Given the description of an element on the screen output the (x, y) to click on. 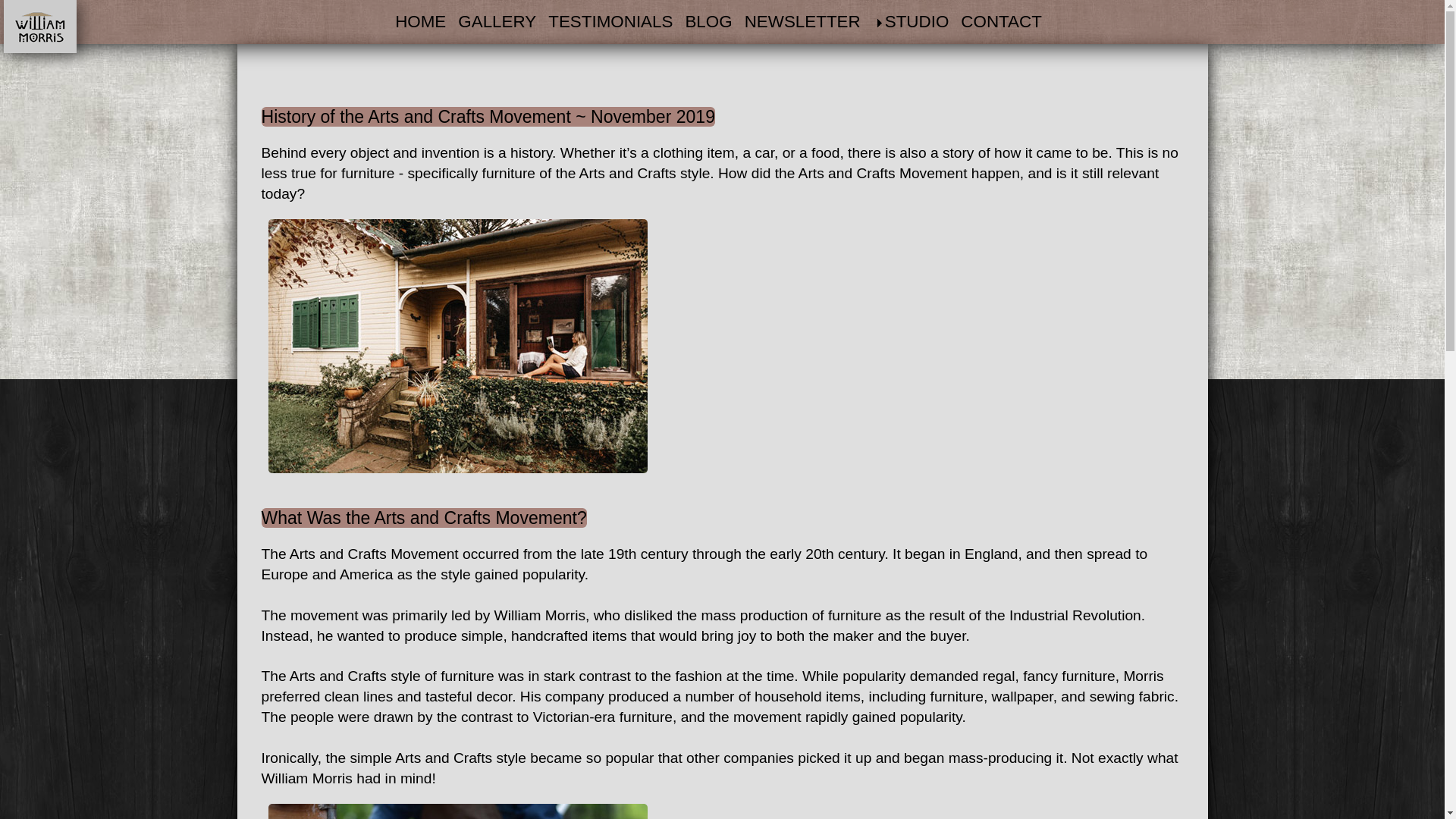
TESTIMONIALS (613, 21)
HOME (423, 21)
GALLERY (500, 21)
NEWSLETTER (805, 21)
BLOG (711, 21)
STUDIO (914, 21)
CONTACT (1004, 21)
